Given the description of an element on the screen output the (x, y) to click on. 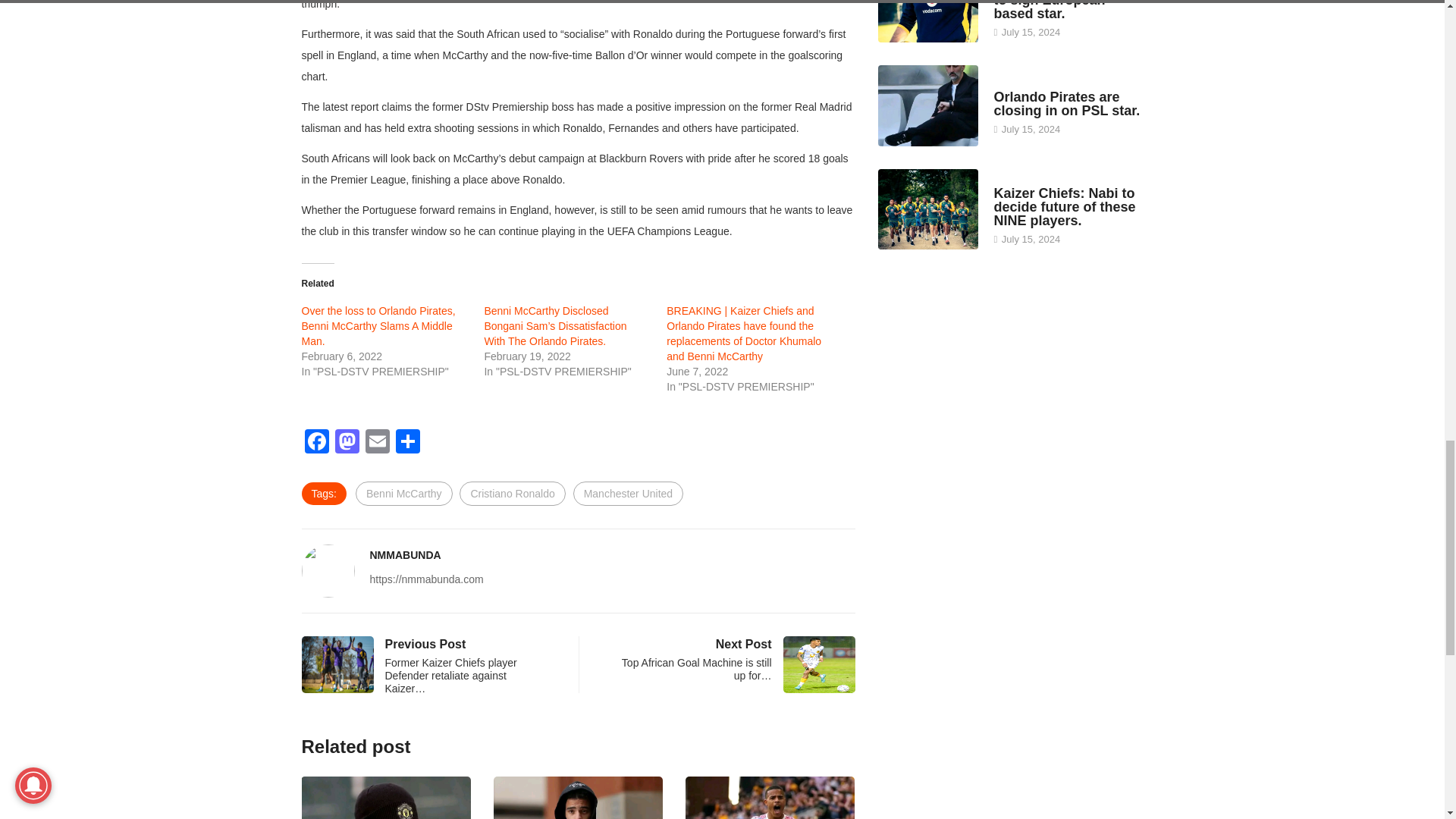
Mastodon (346, 443)
Mastodon (346, 443)
Email (377, 443)
Benni McCarthy (403, 493)
Facebook (316, 443)
Facebook (316, 443)
Manchester United (628, 493)
Cristiano Ronaldo (512, 493)
Email (377, 443)
Share (408, 443)
